Given the description of an element on the screen output the (x, y) to click on. 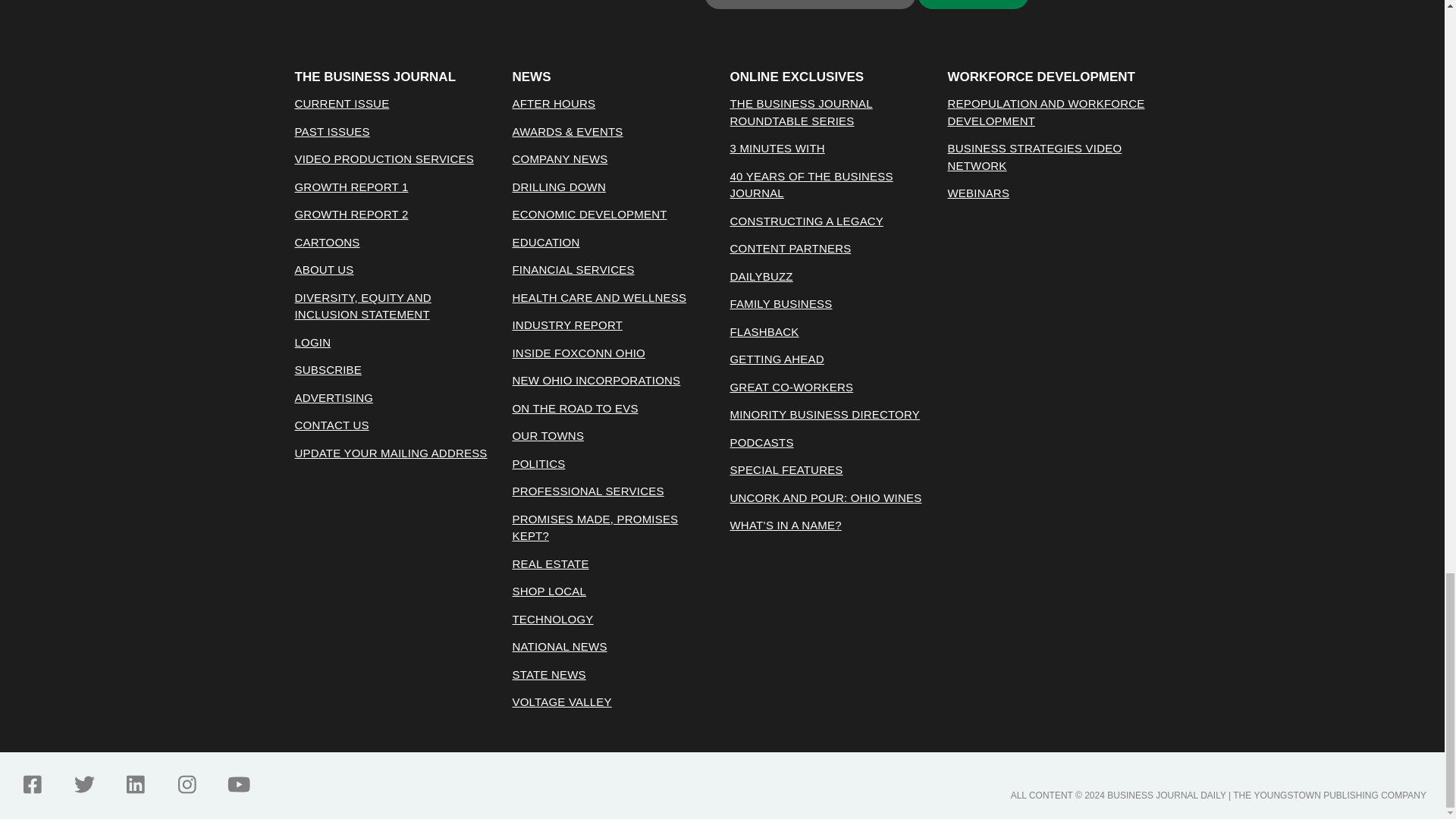
YouTube (238, 783)
Twitter (84, 783)
Twitter (84, 783)
Sign Up (973, 4)
